Given the description of an element on the screen output the (x, y) to click on. 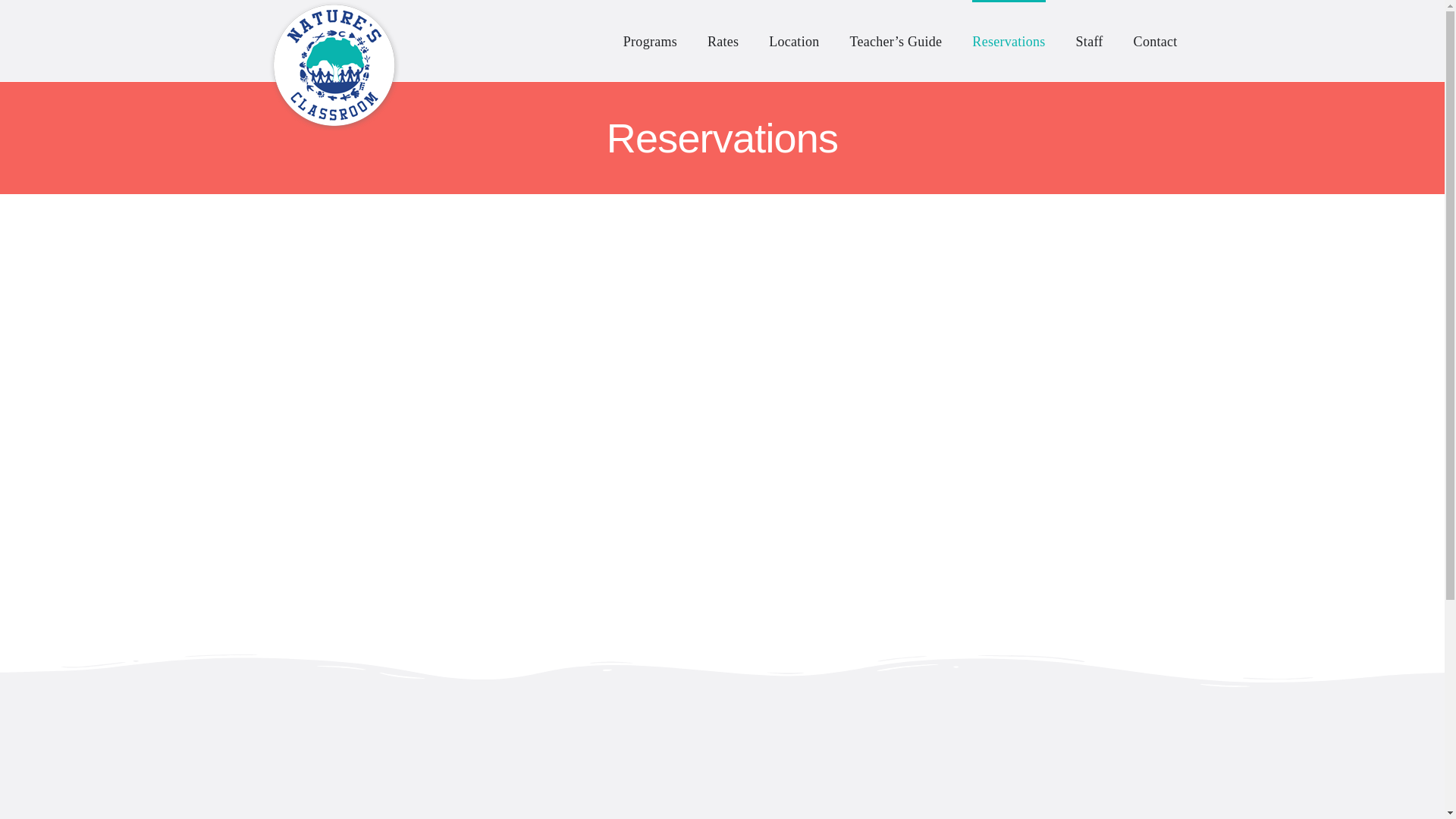
Reservations (1008, 40)
